Given the description of an element on the screen output the (x, y) to click on. 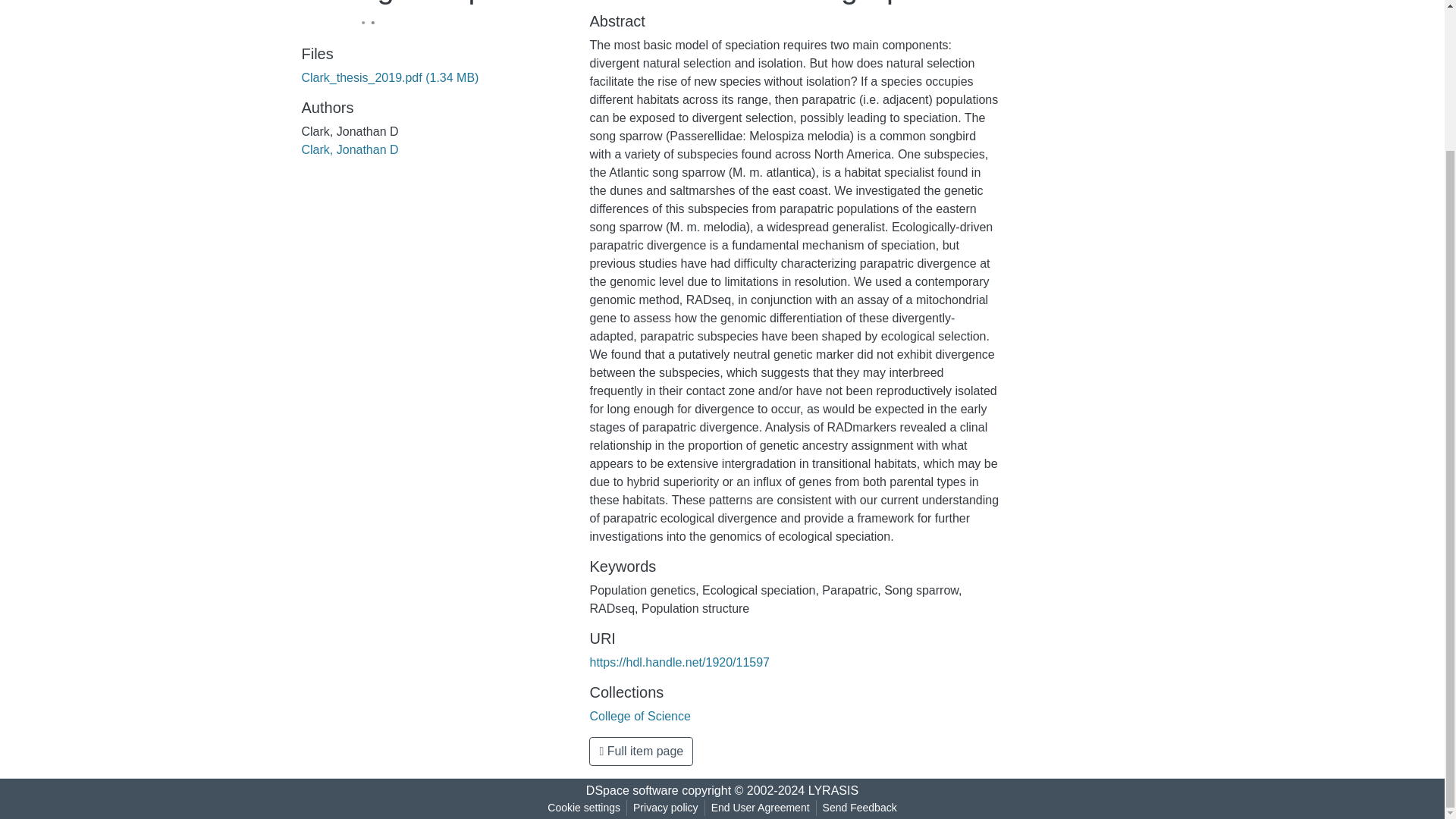
Clark, Jonathan D (349, 149)
Privacy policy (665, 807)
DSpace software (632, 789)
Full item page (641, 751)
Send Feedback (859, 807)
College of Science (639, 716)
End User Agreement (759, 807)
Cookie settings (583, 807)
LYRASIS (833, 789)
